Given the description of an element on the screen output the (x, y) to click on. 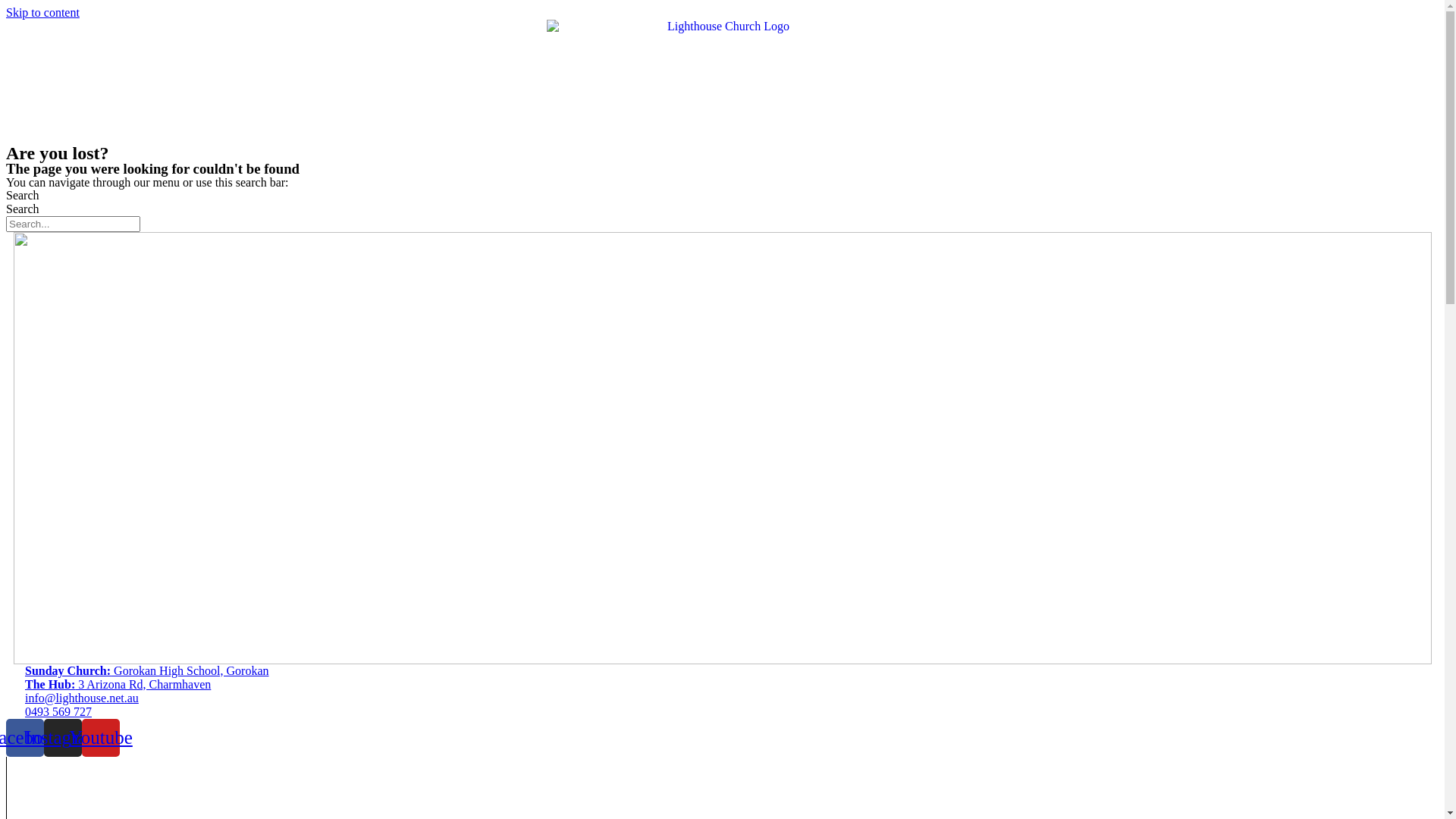
The Hub: 3 Arizona Rd, Charmhaven Element type: text (722, 684)
Youtube Element type: text (100, 737)
Instagram Element type: text (62, 737)
Sunday Church: Gorokan High School, Gorokan Element type: text (722, 670)
Skip to content Element type: text (42, 12)
info@lighthouse.net.au Element type: text (722, 698)
0493 569 727 Element type: text (722, 711)
Facebook Element type: text (24, 737)
